Given the description of an element on the screen output the (x, y) to click on. 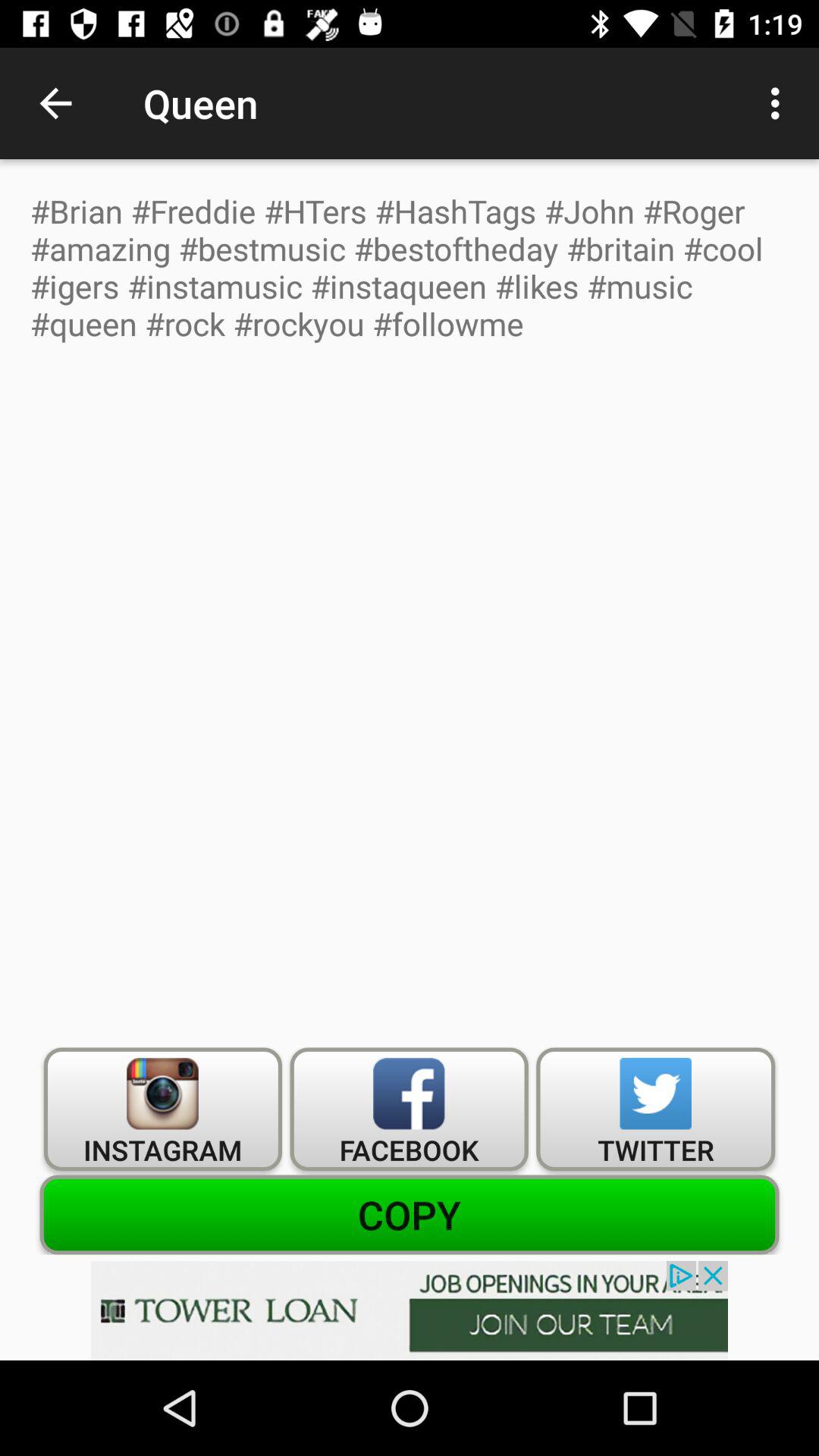
open advertisement (409, 1310)
